Given the description of an element on the screen output the (x, y) to click on. 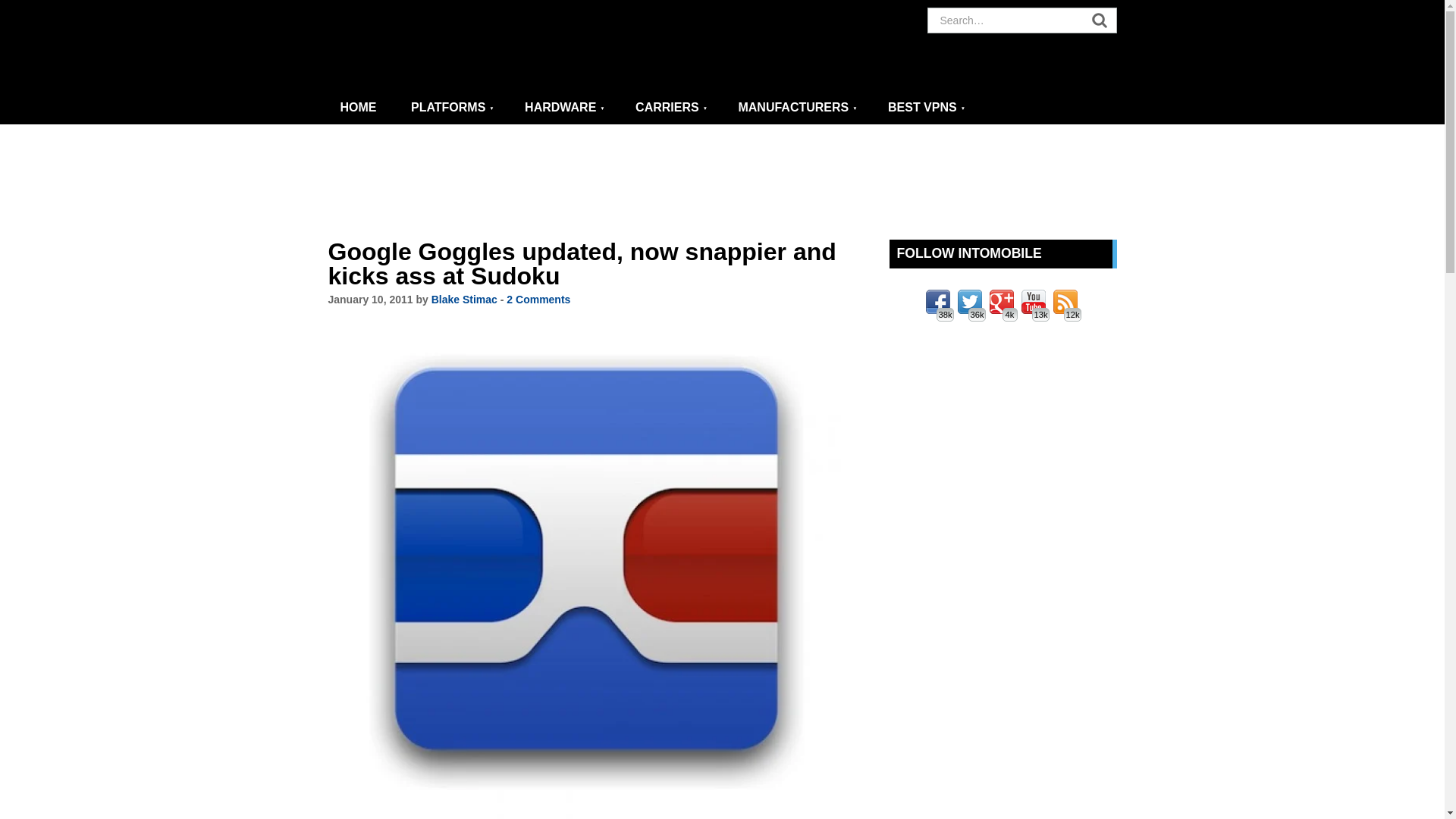
MANUFACTURERS (797, 107)
IntoMobile (463, 45)
The Latest Cell Phone News and Reviews (359, 107)
Blake Stimac (463, 299)
Advertisement (722, 182)
2 Comments (538, 299)
HARDWARE (564, 107)
HOME (359, 107)
CARRIERS (671, 107)
